Given the description of an element on the screen output the (x, y) to click on. 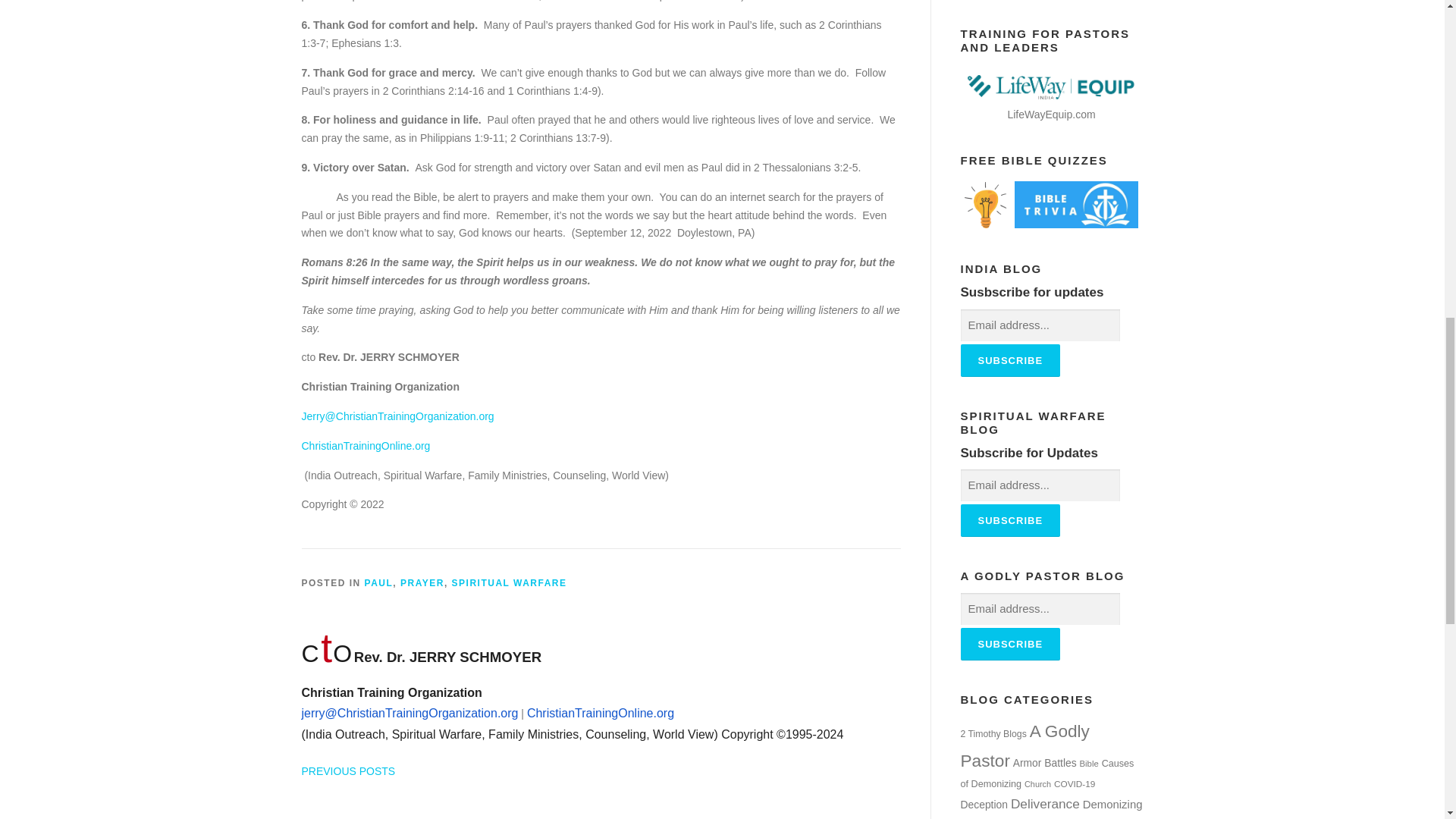
PAUL (379, 583)
SPIRITUAL WARFARE (509, 583)
ChristianTrainingOnline.org (599, 713)
PREVIOUS POSTS (348, 770)
ChristianTrainingOnline.org (365, 445)
Subscribe (1009, 359)
Subscribe (1009, 520)
Subscribe (1009, 644)
PRAYER (422, 583)
